Given the description of an element on the screen output the (x, y) to click on. 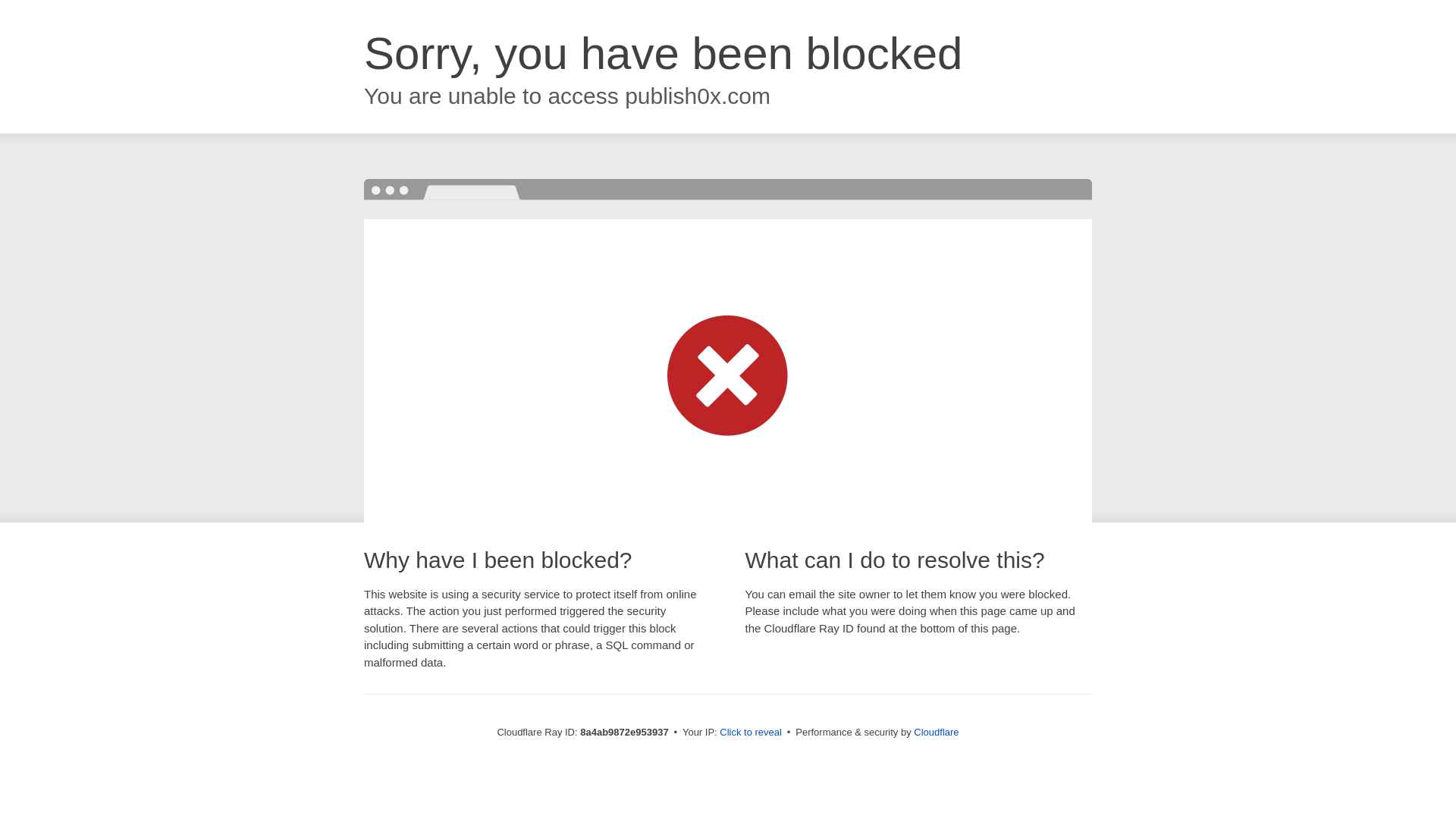
Click to reveal (750, 732)
Cloudflare (936, 731)
